Given the description of an element on the screen output the (x, y) to click on. 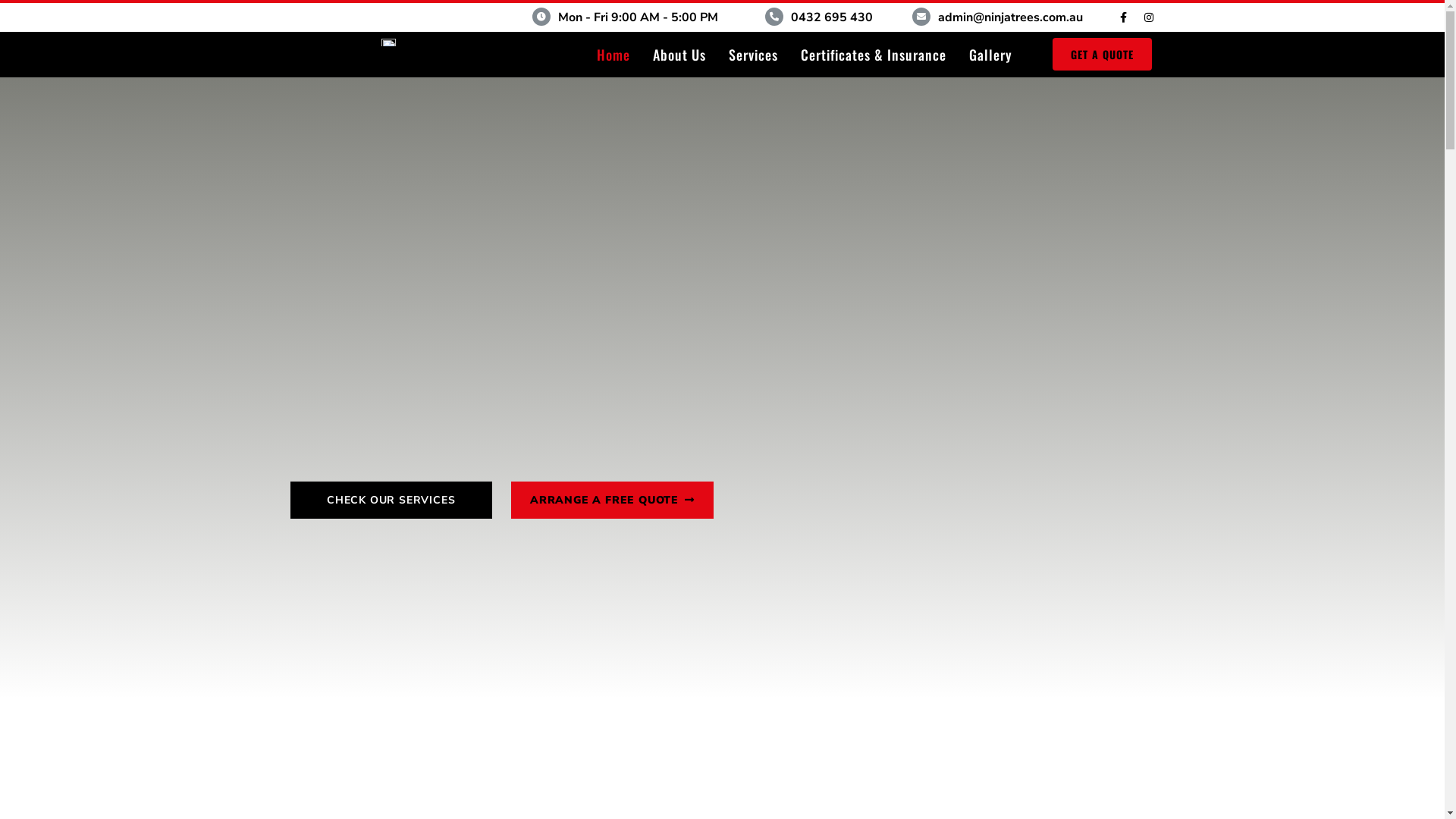
ARRANGE A FREE QUOTE Element type: text (612, 499)
About Us Element type: text (679, 54)
Home Element type: text (613, 54)
GET A QUOTE Element type: text (1101, 53)
Facebook-f Element type: text (1122, 17)
Services Element type: text (753, 54)
Gallery Element type: text (990, 54)
admin@ninjatrees.com.au Element type: text (1010, 17)
0432 695 430 Element type: text (831, 17)
Instagram Element type: text (1148, 17)
CHECK OUR SERVICES Element type: text (390, 499)
Certificates & Insurance Element type: text (873, 54)
